Given the description of an element on the screen output the (x, y) to click on. 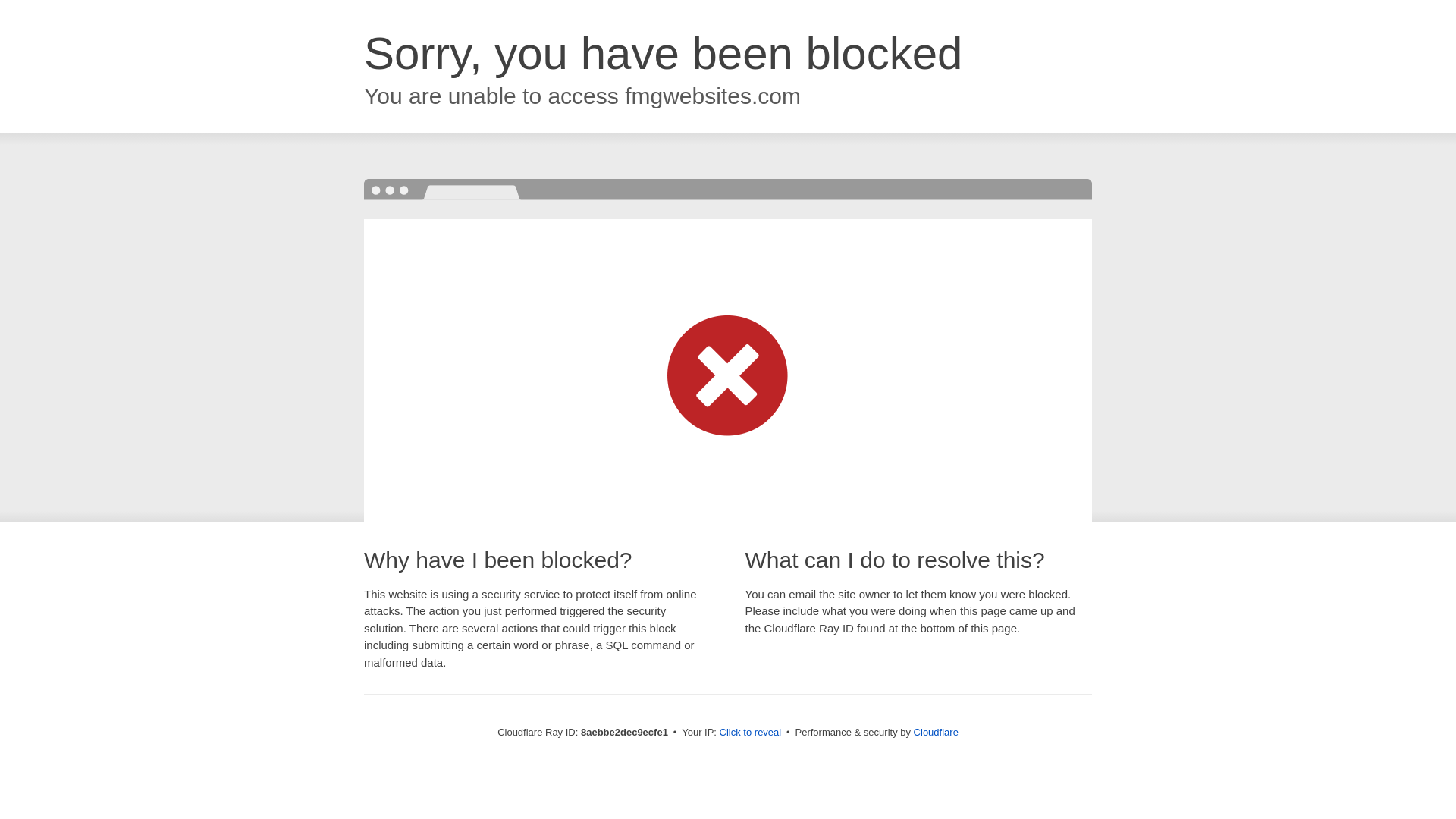
Click to reveal (750, 732)
Cloudflare (936, 731)
